Given the description of an element on the screen output the (x, y) to click on. 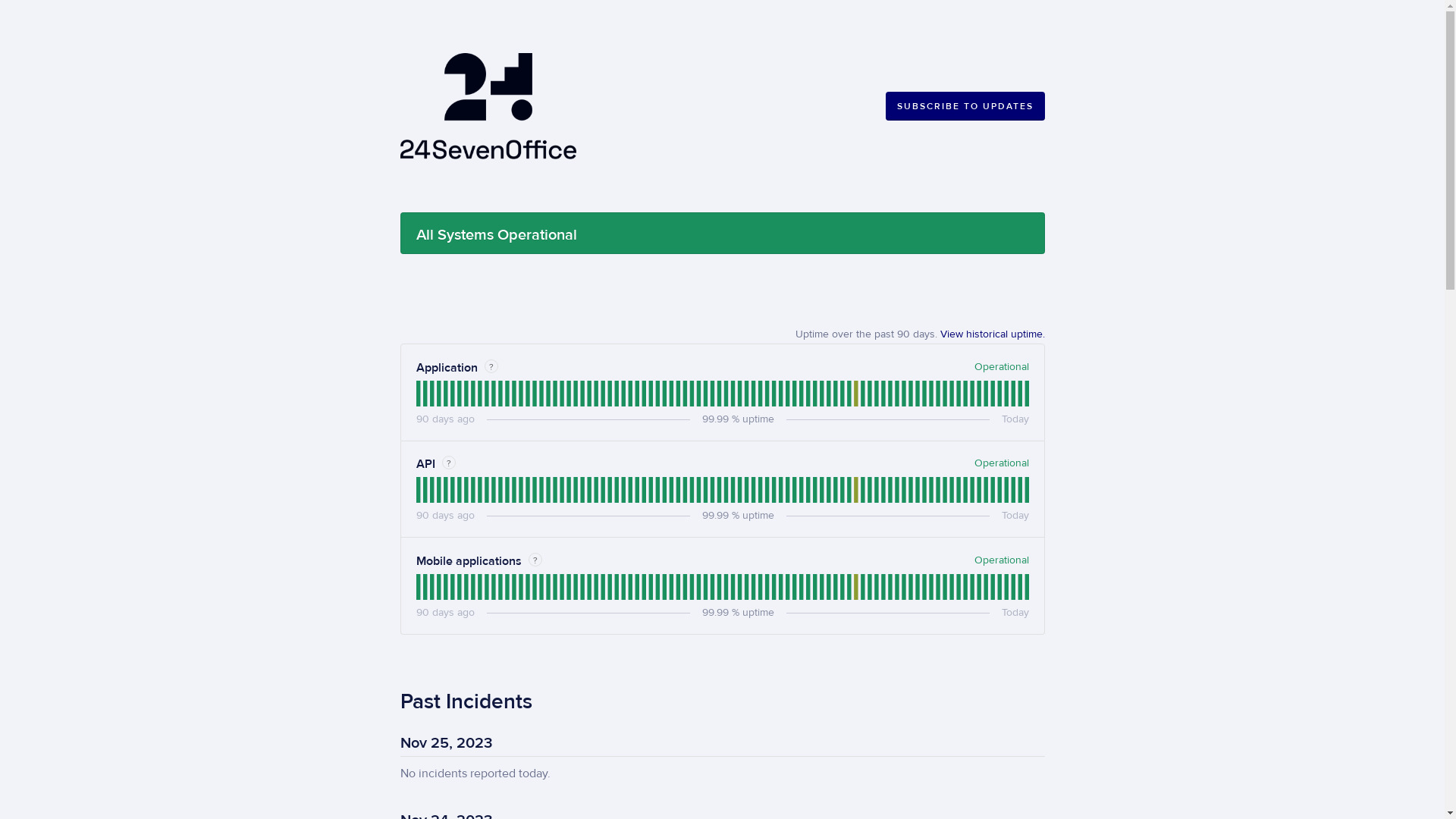
View historical uptime. Element type: text (992, 334)
Past Incidents Element type: text (466, 701)
